Given the description of an element on the screen output the (x, y) to click on. 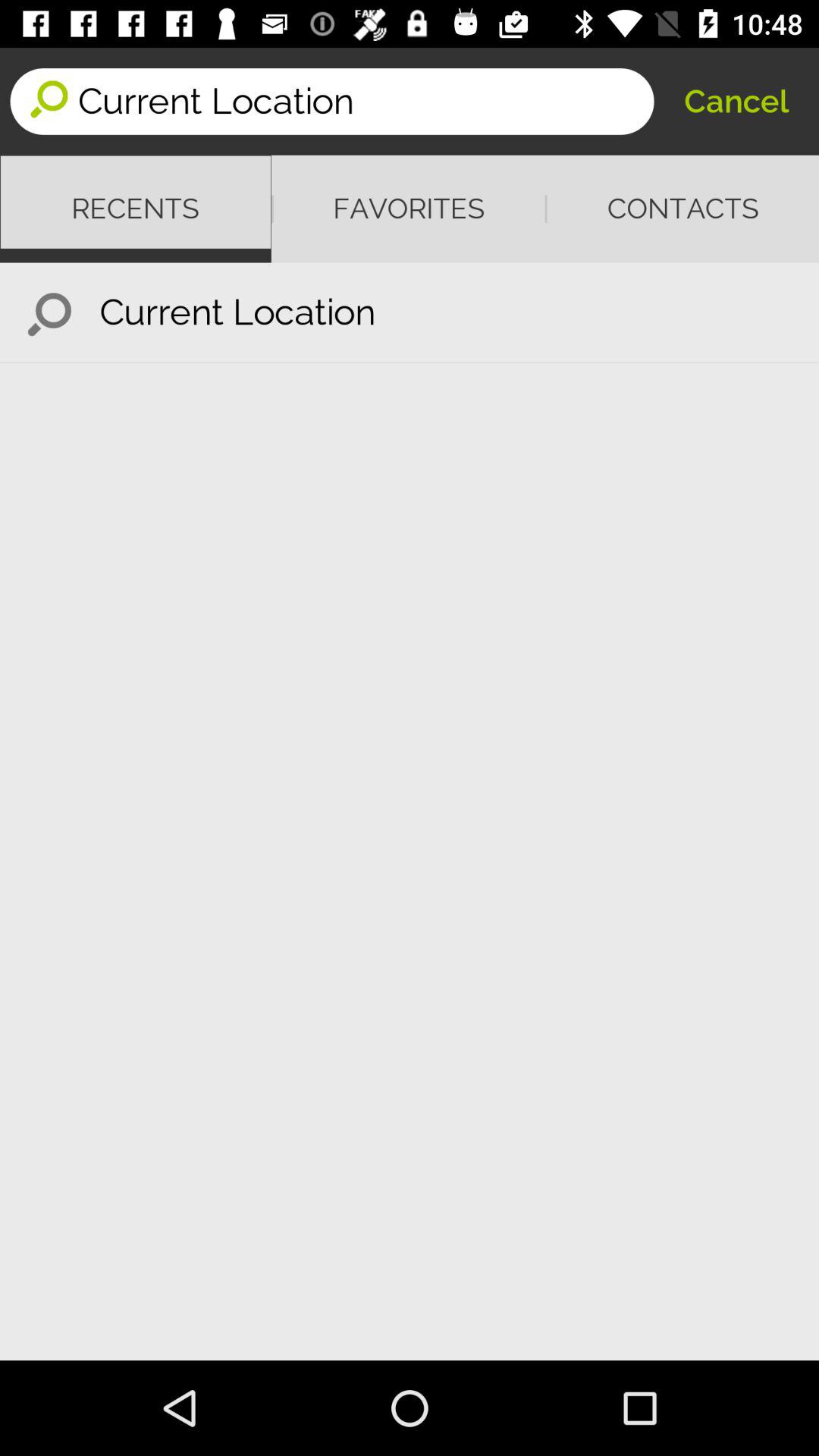
press the item below recents (49, 312)
